Given the description of an element on the screen output the (x, y) to click on. 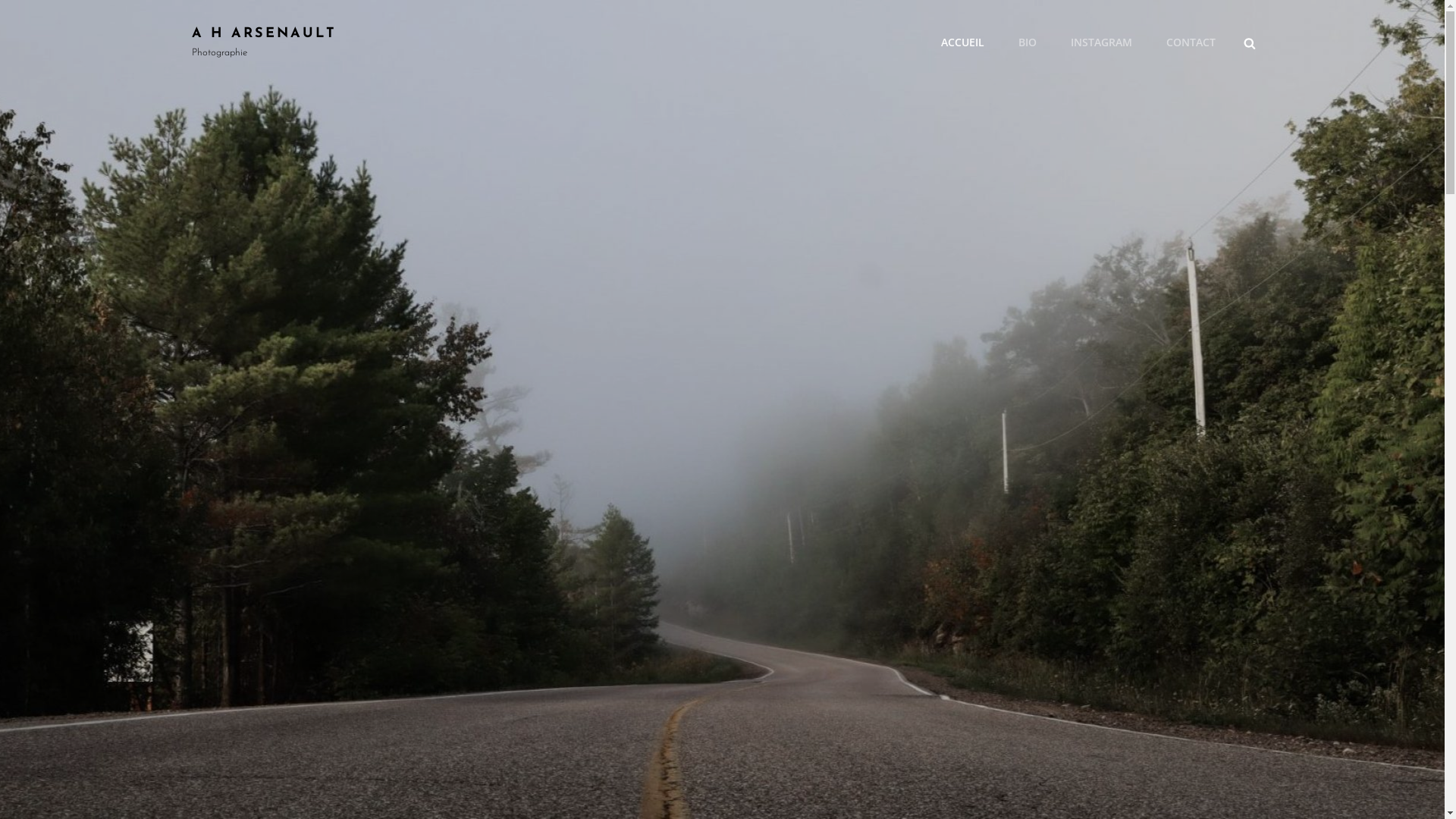
SEARCH Element type: text (1249, 42)
A H ARSENAULT Element type: text (263, 33)
BIO Element type: text (1026, 42)
INSTAGRAM Element type: text (1101, 42)
ACCUEIL Element type: text (961, 42)
CONTACT Element type: text (1190, 42)
